Given the description of an element on the screen output the (x, y) to click on. 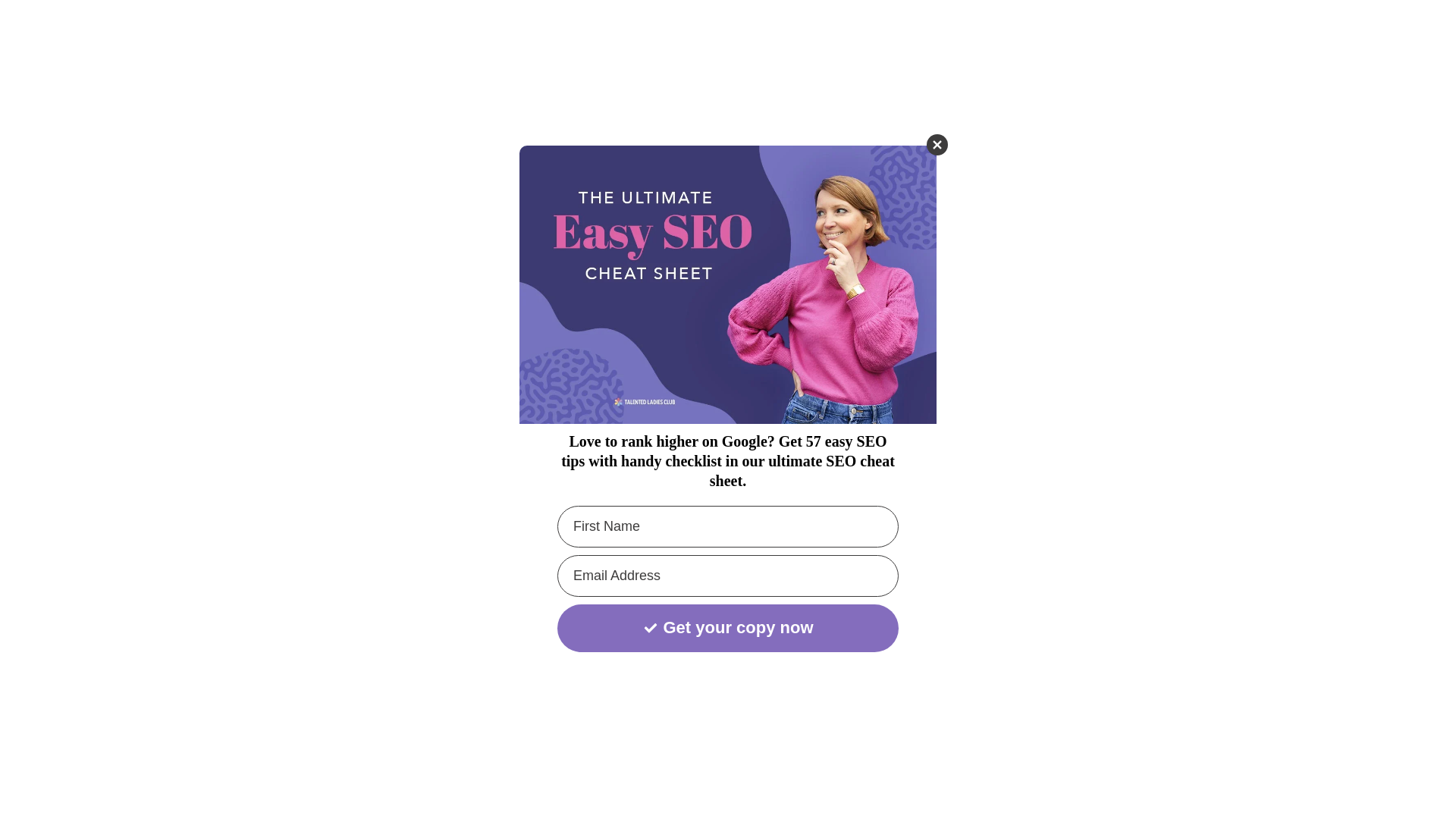
Contact (1150, 28)
Our story (810, 28)
Mentoring (1015, 28)
Courses (943, 28)
Podcast (1086, 28)
Articles (879, 28)
Close (936, 144)
Get your copy now (727, 627)
